Given the description of an element on the screen output the (x, y) to click on. 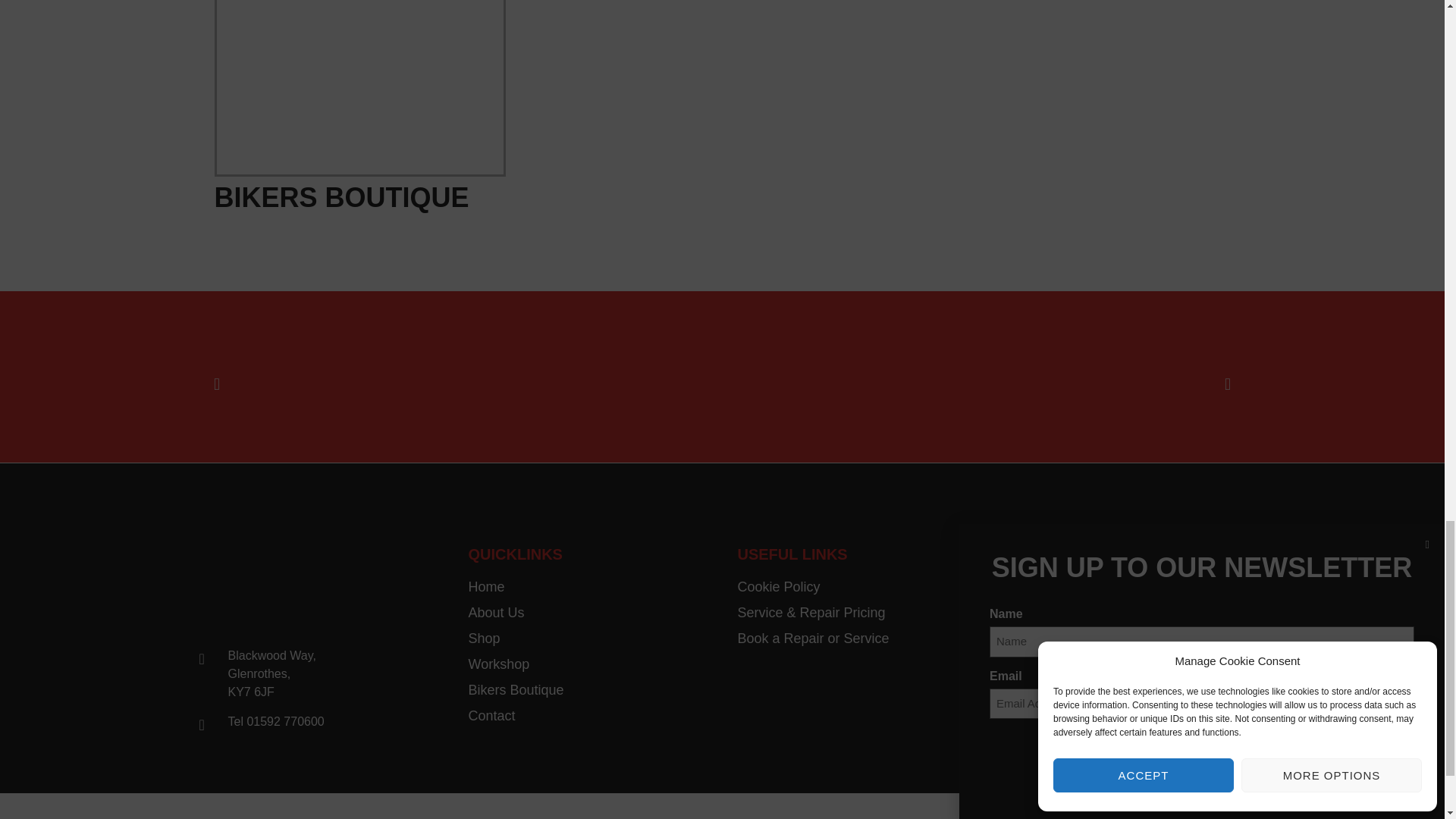
Bikers Boutique (587, 690)
Shop (587, 638)
Book a Repair or Service (855, 638)
Workshop (587, 664)
Contact (587, 715)
Tel 01592 770600 (309, 721)
Submit (1047, 674)
About Us (587, 612)
Cookie Policy (855, 587)
Home (587, 587)
Submit (1047, 674)
